Given the description of an element on the screen output the (x, y) to click on. 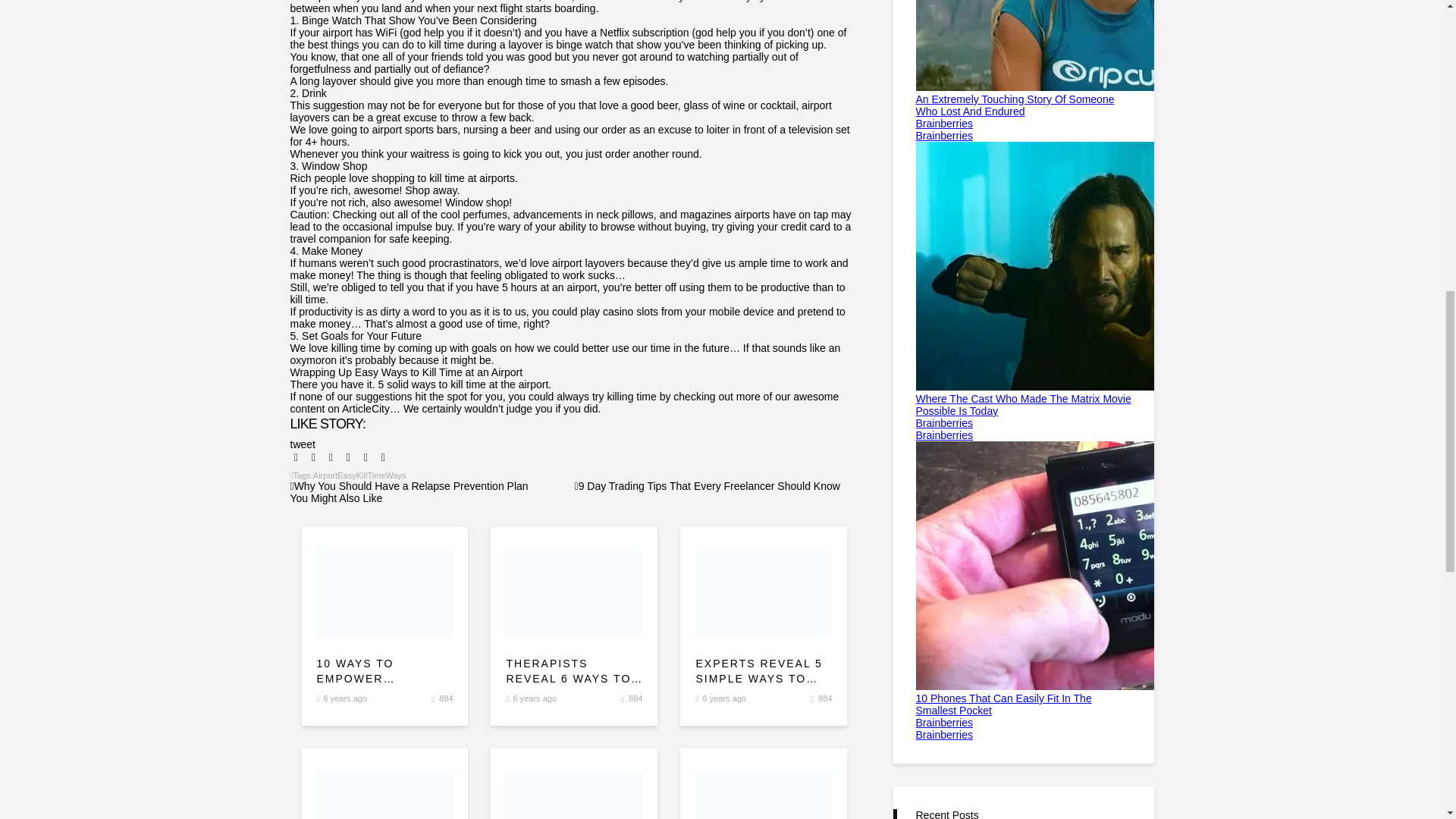
tweet (301, 444)
9 Day Trading Tips That Every Freelancer Should Know (707, 485)
Why You Should Have a Relapse Prevention Plan (408, 485)
9 Day Trading Tips That Every Freelancer Should Know (707, 485)
Kill (362, 474)
Kill (362, 474)
5 Easy Ways to Kill Time at an Airport (573, 593)
Airport (325, 474)
Easy (346, 474)
5 Easy Ways to Kill Time at an Airport (384, 593)
Why You Should Have a Relapse Prevention Plan (408, 485)
10 WAYS TO EMPOWER YOURSELF TO WALK AWAY FROM A NARCISSIST (384, 671)
Time (375, 474)
Airport (325, 474)
Ways (395, 474)
